Given the description of an element on the screen output the (x, y) to click on. 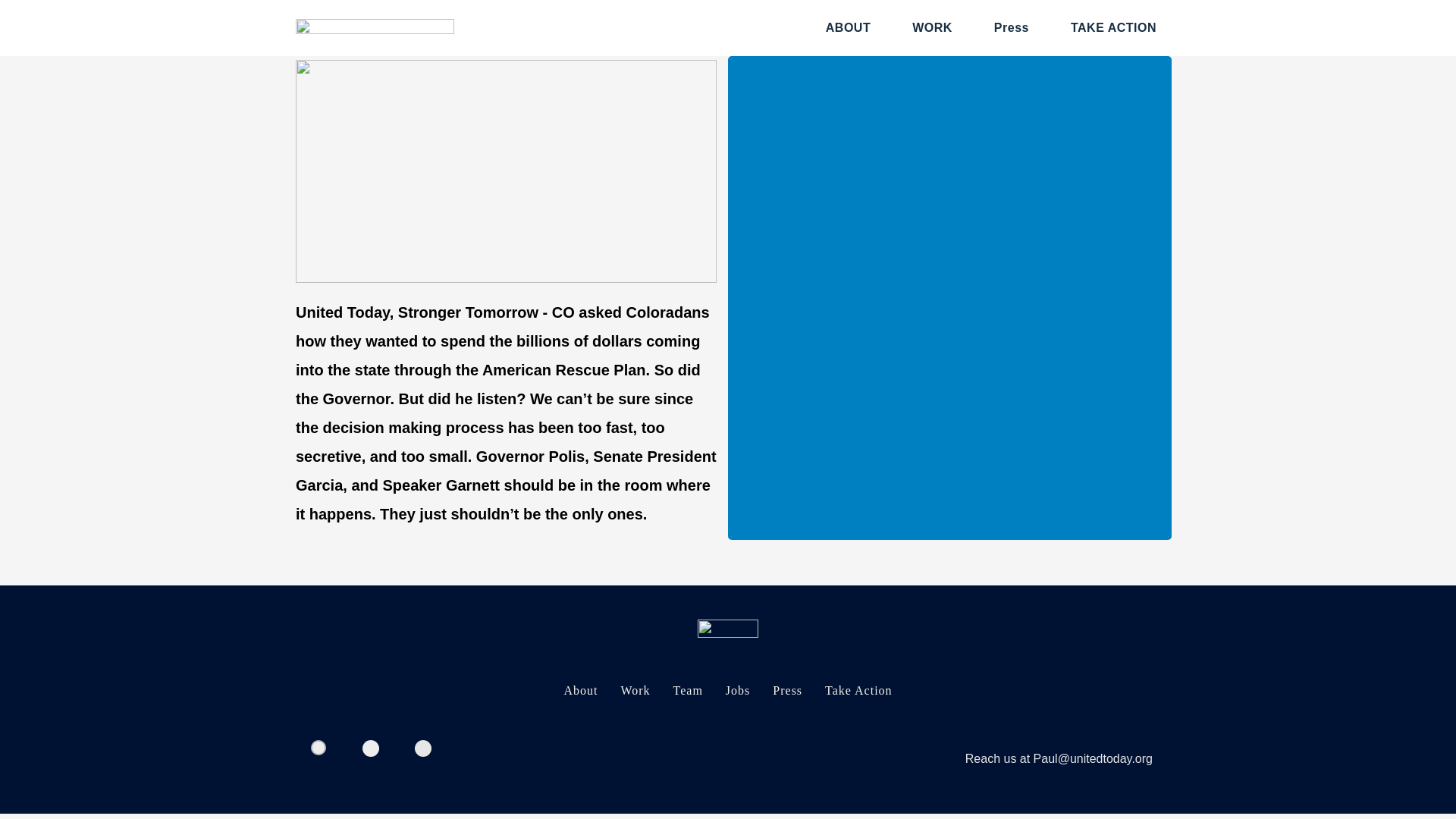
Work (634, 690)
About (580, 690)
Take Action (858, 690)
Press (787, 690)
WORK (932, 27)
Team (687, 690)
Jobs (738, 690)
Press (1011, 27)
ABOUT (848, 27)
TAKE ACTION (1113, 27)
